Given the description of an element on the screen output the (x, y) to click on. 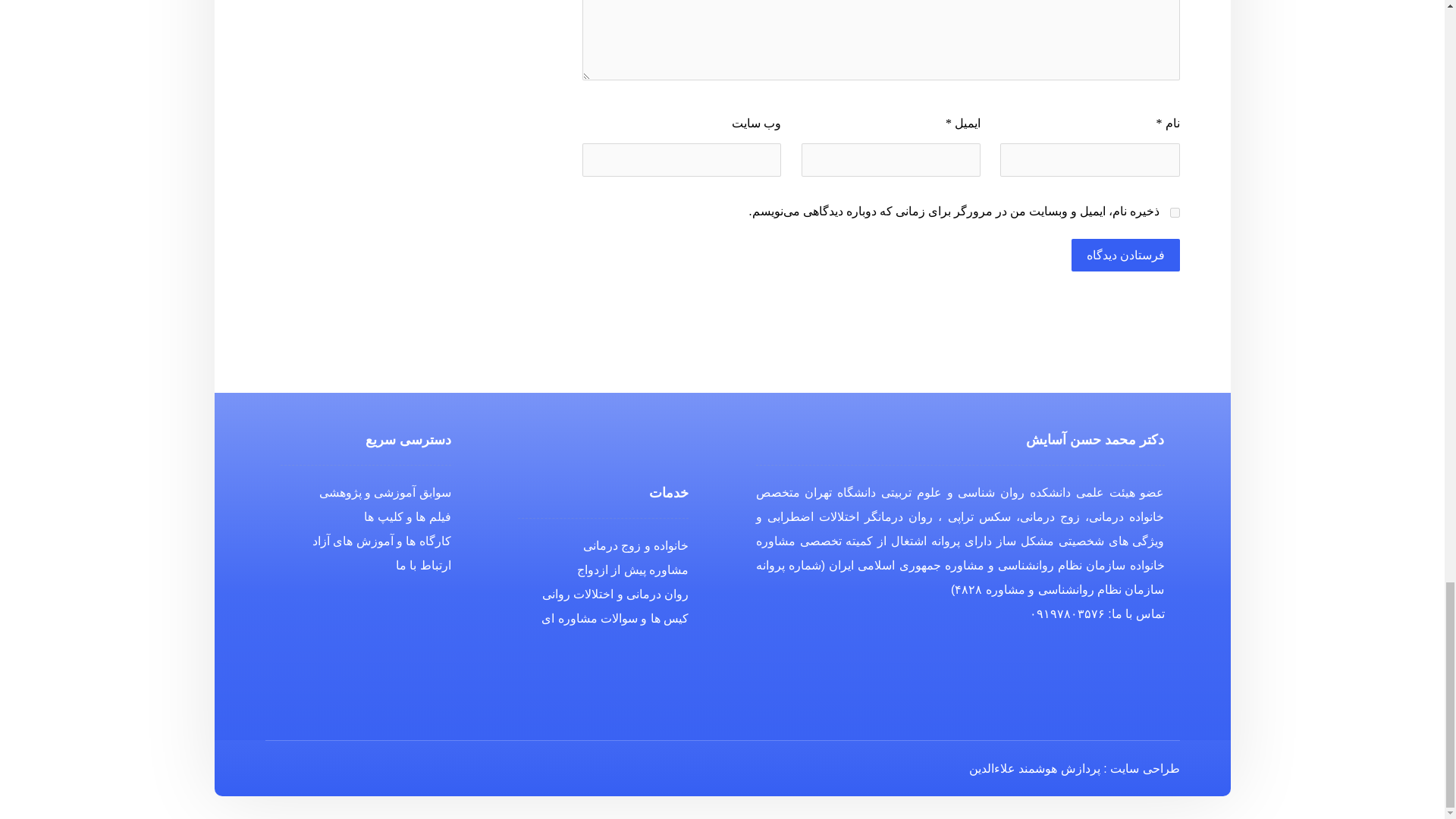
yes (1174, 212)
